Given the description of an element on the screen output the (x, y) to click on. 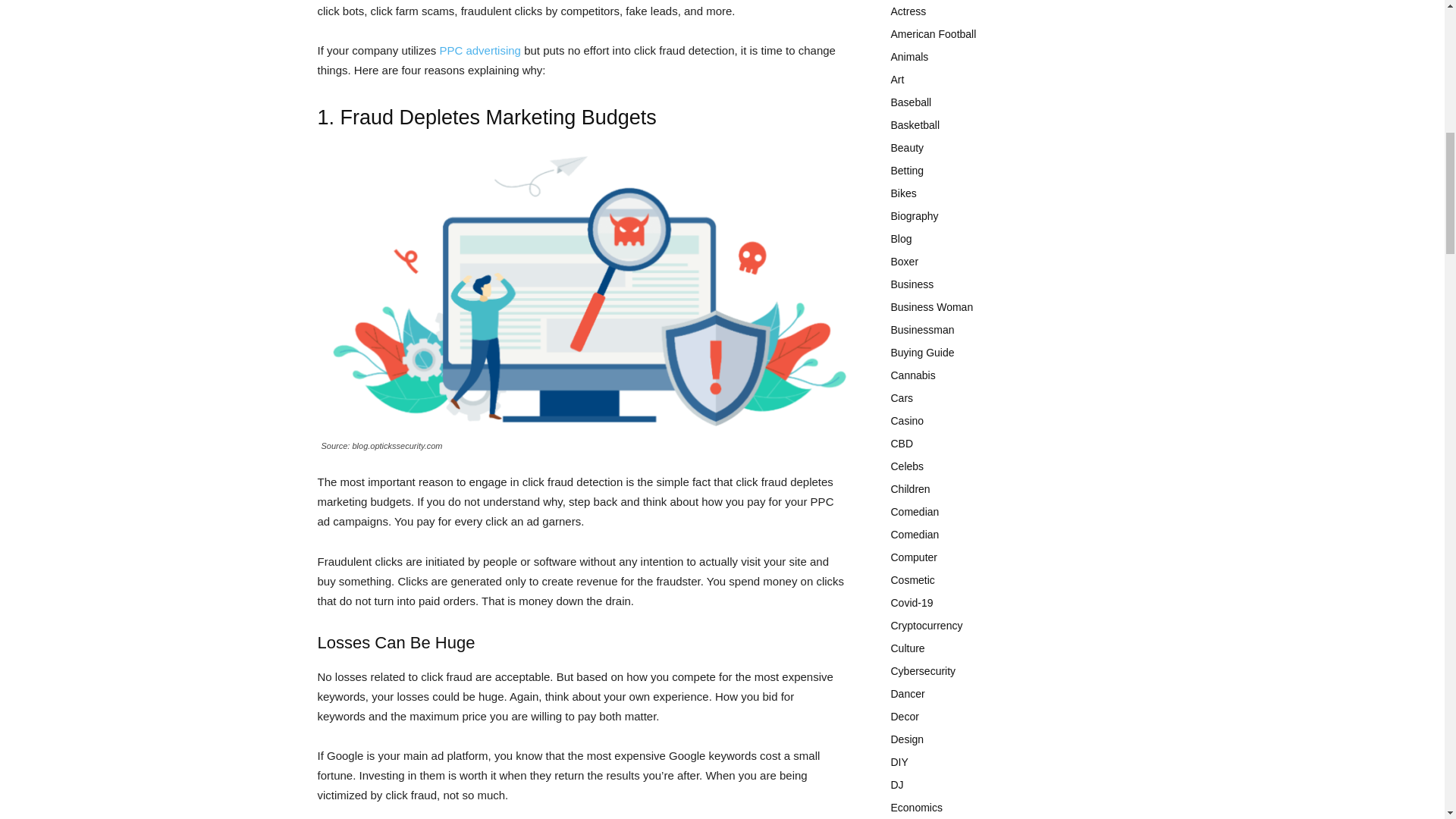
PPC advertising (480, 50)
